Given the description of an element on the screen output the (x, y) to click on. 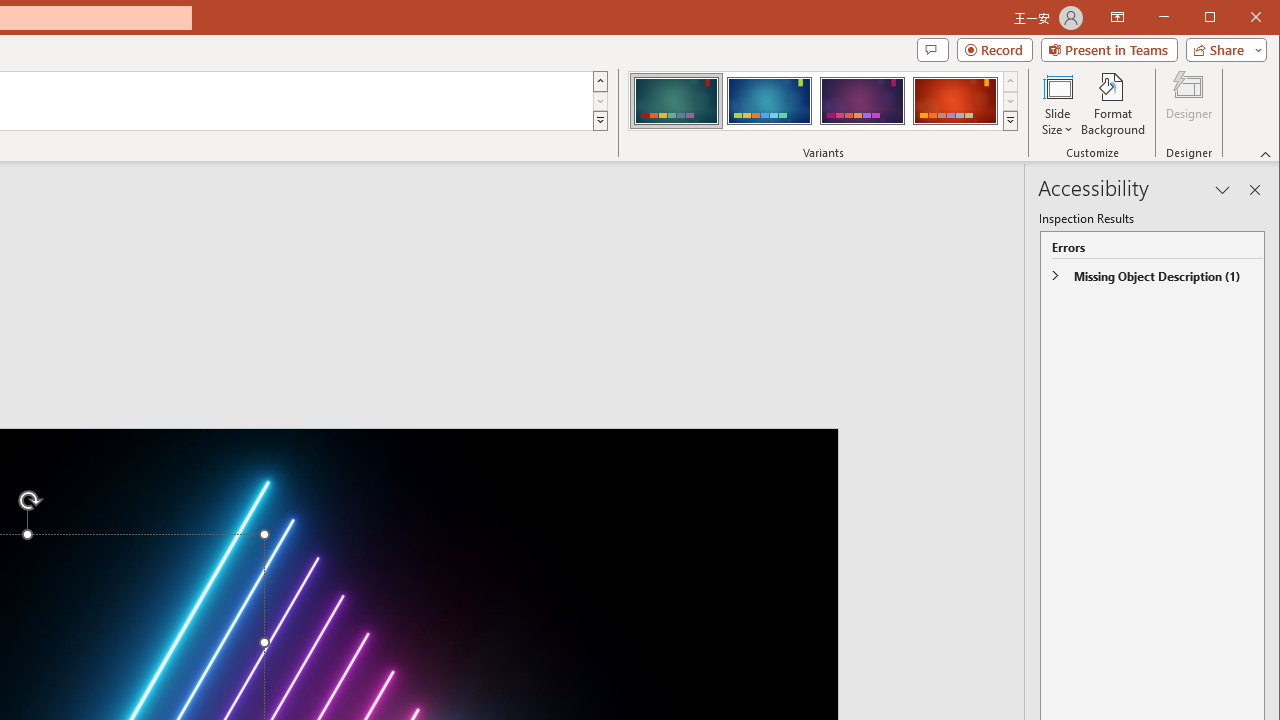
Ion Variant 4 (955, 100)
